Given the description of an element on the screen output the (x, y) to click on. 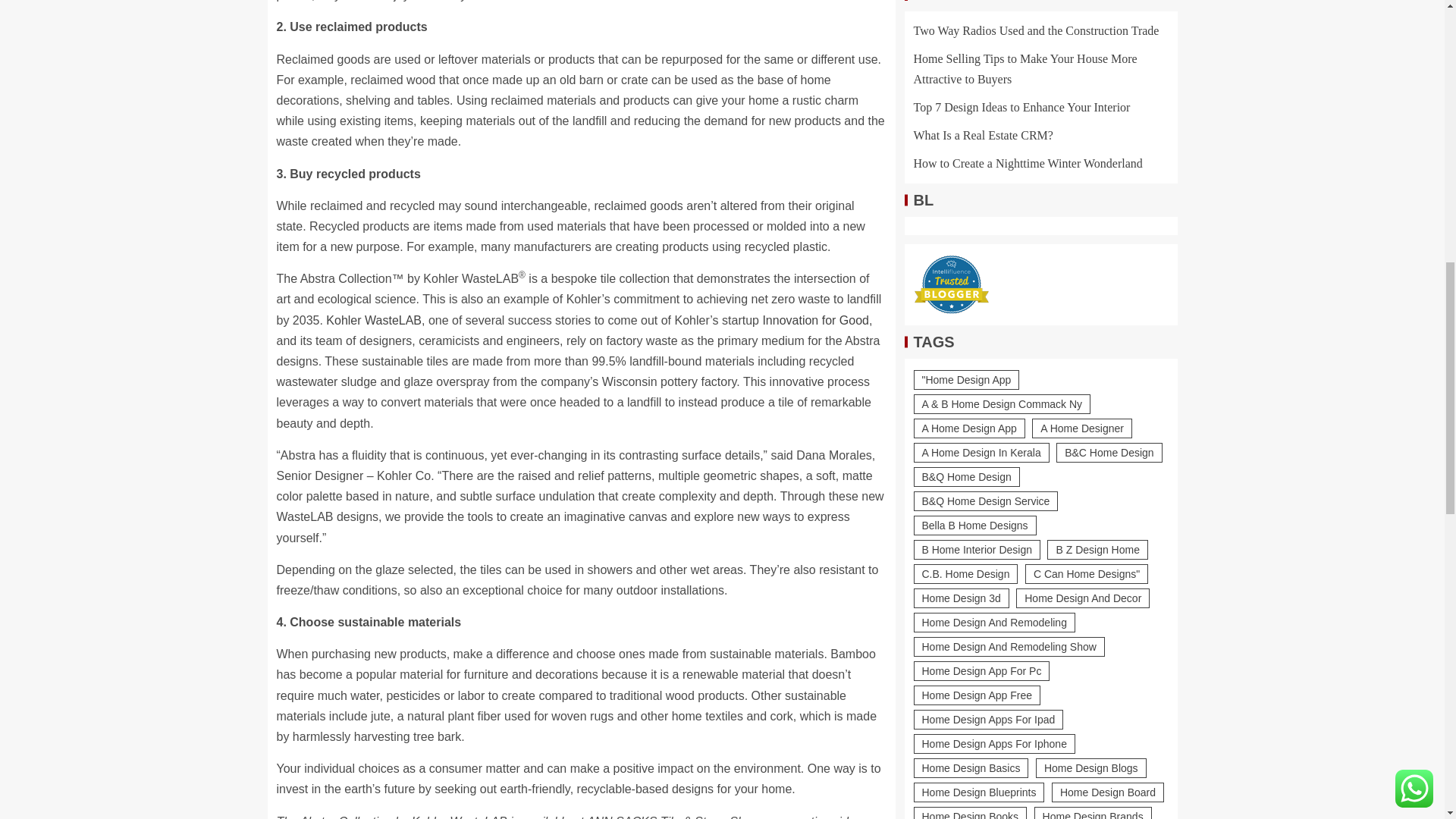
Kohler WasteLAB (374, 319)
Innovation for Good (815, 319)
